Given the description of an element on the screen output the (x, y) to click on. 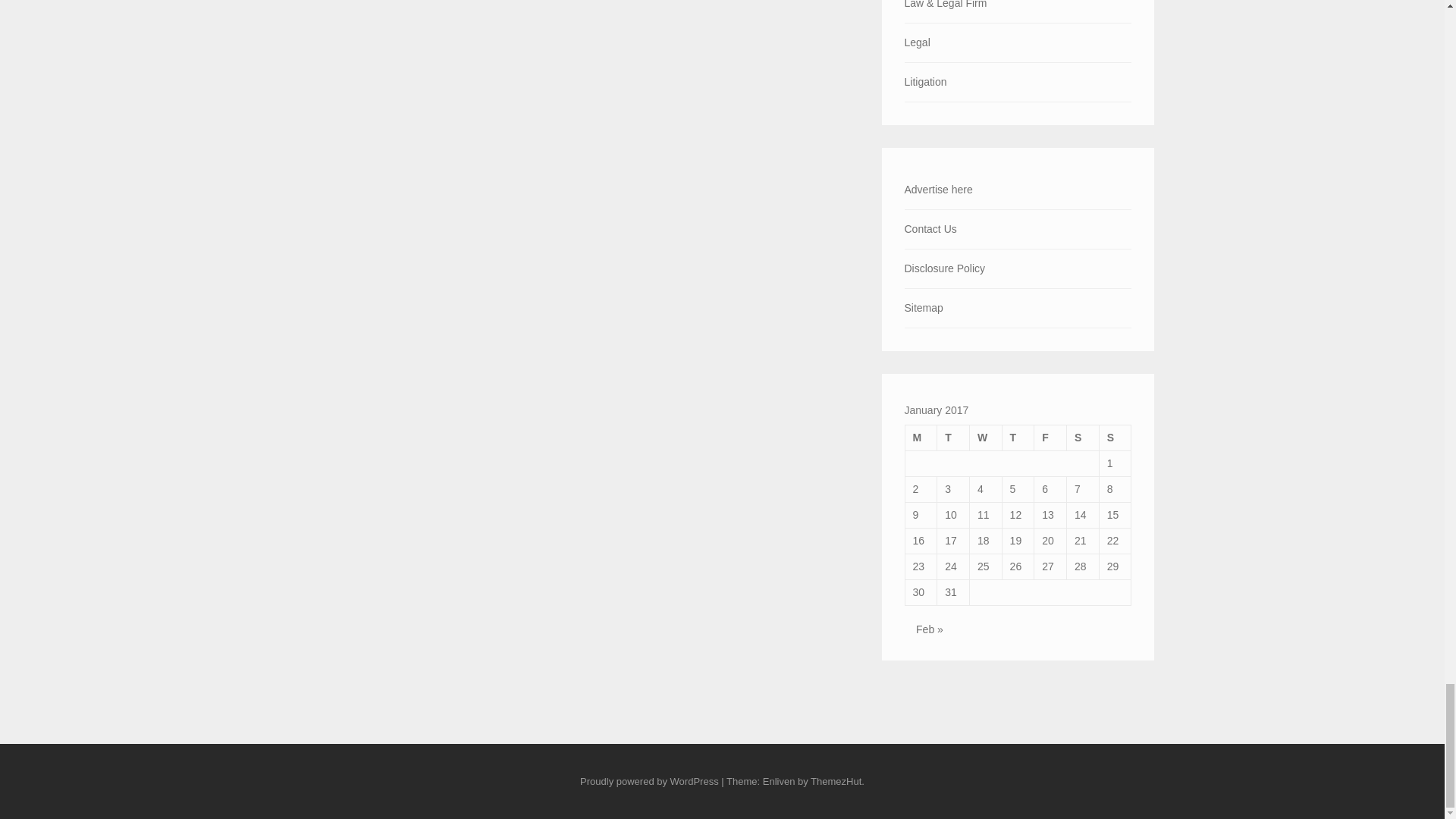
Tuesday (953, 437)
Friday (1050, 437)
Wednesday (985, 437)
Sunday (1115, 437)
Saturday (1083, 437)
Thursday (1017, 437)
Monday (920, 437)
